Given the description of an element on the screen output the (x, y) to click on. 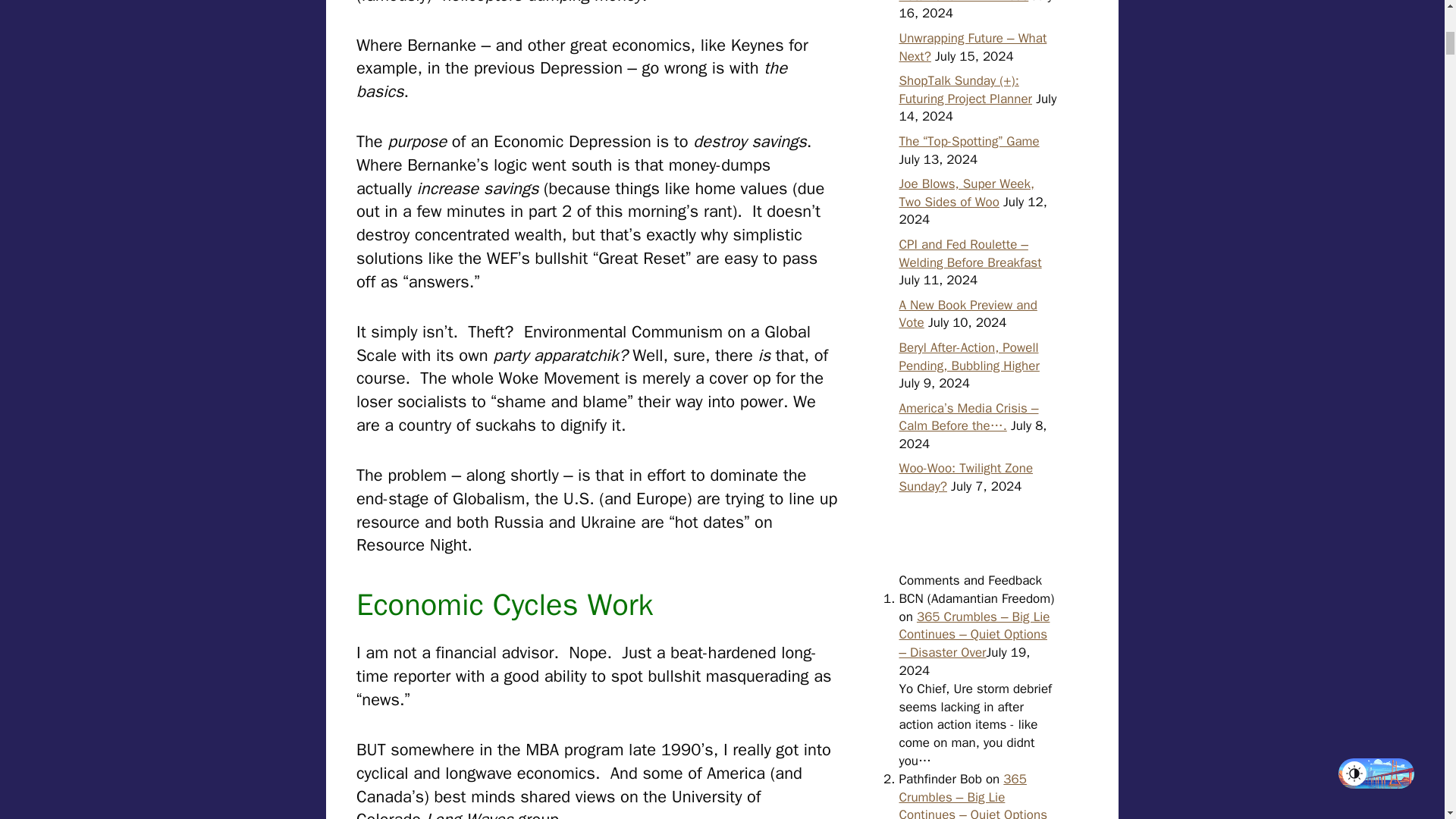
Scroll back to top (1406, 720)
